Given the description of an element on the screen output the (x, y) to click on. 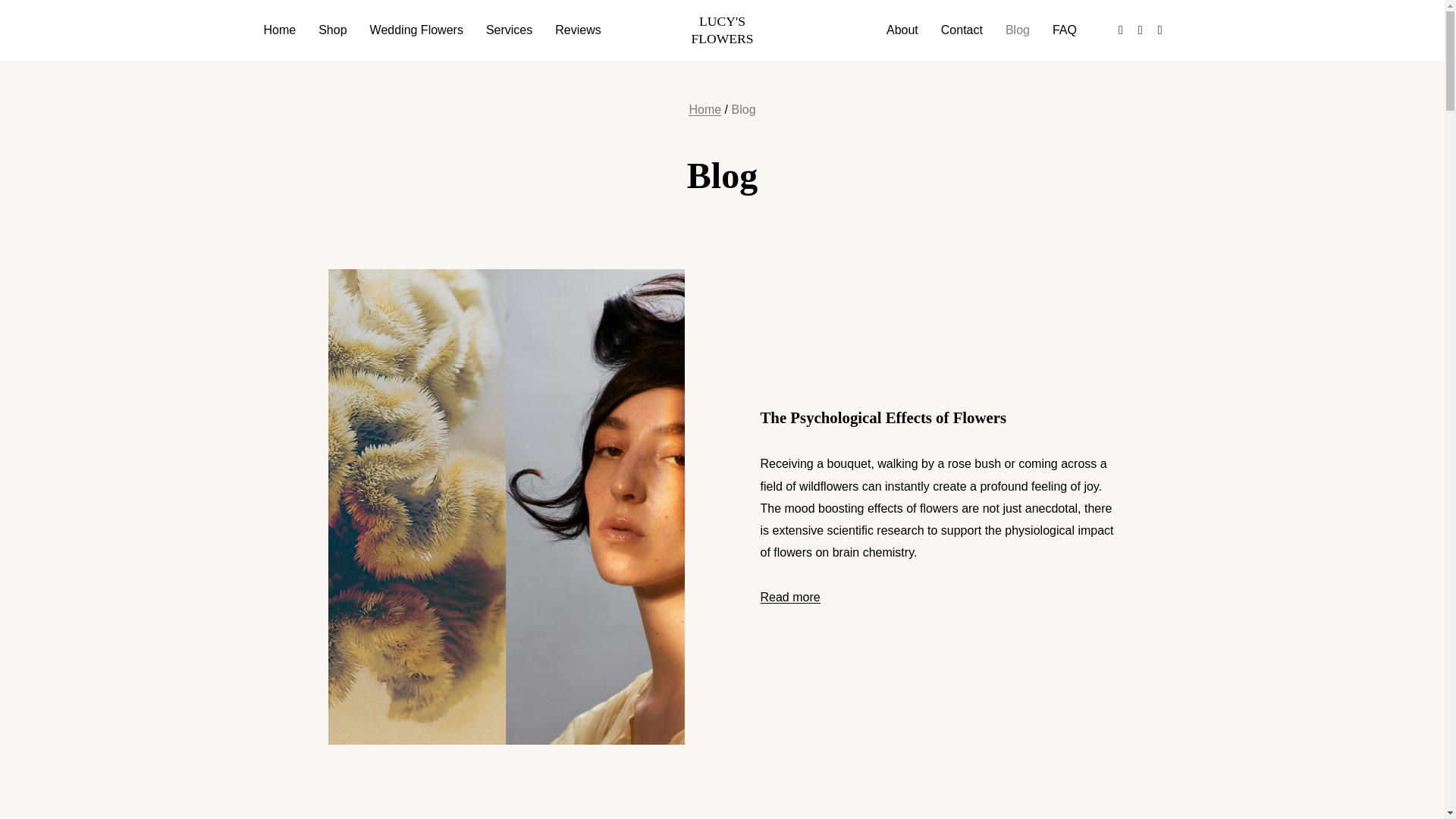
Reviews (577, 29)
Contact (962, 29)
Services (508, 29)
About (902, 29)
The Psychological Effects of Flowers (883, 416)
The Psychological Effects of Flowers (883, 416)
Wedding Flowers (416, 29)
Blog (1017, 29)
Shop (332, 29)
Read more (789, 596)
